Given the description of an element on the screen output the (x, y) to click on. 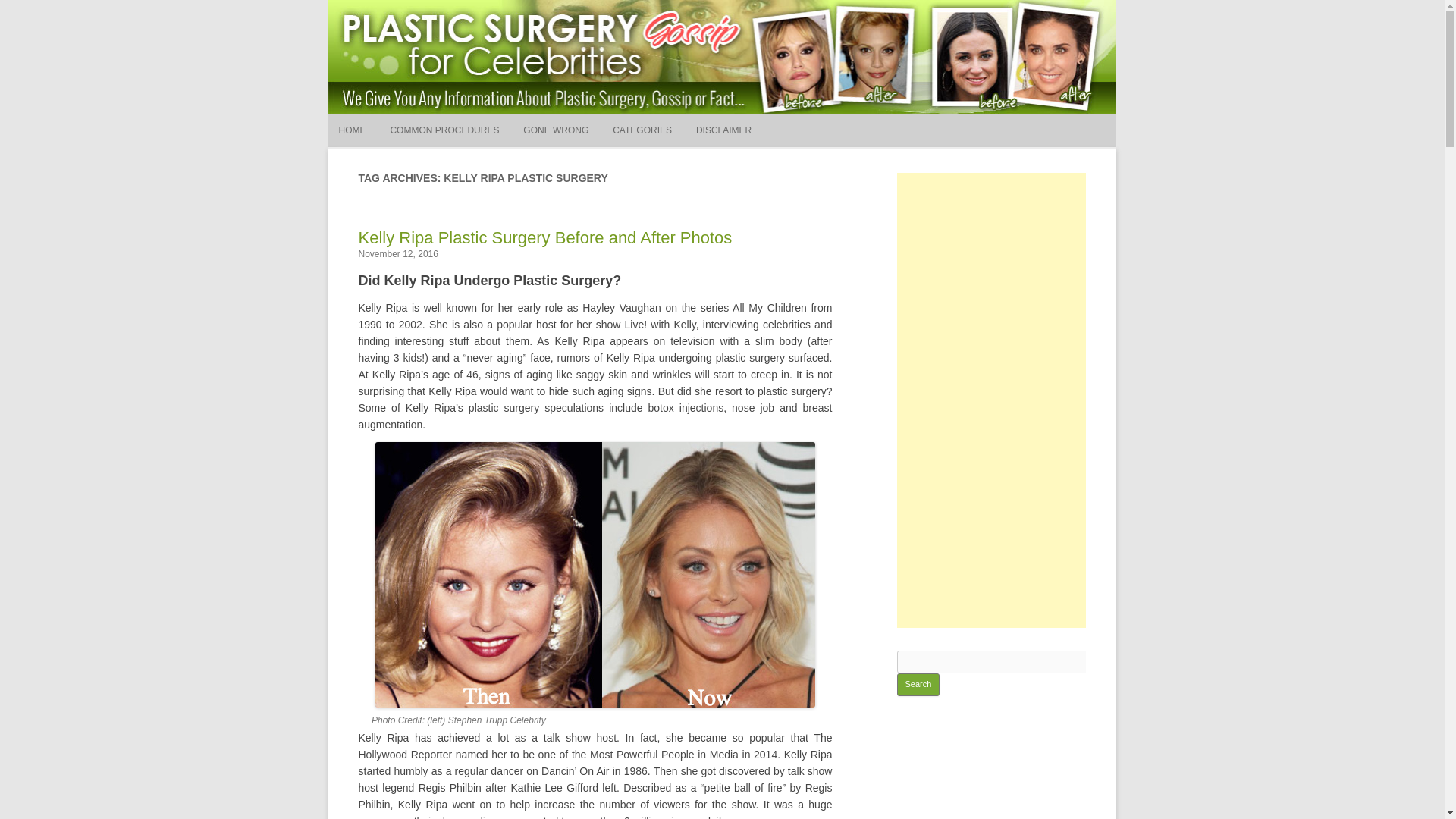
Skip to content (757, 118)
Search (777, 172)
Search (917, 684)
COMMON PROCEDURES (444, 130)
DISCLAIMER (723, 130)
1:16 am (398, 253)
Search (917, 684)
GONE WRONG (555, 130)
Skip to content (757, 118)
Search (777, 172)
November 12, 2016 (398, 253)
Kelly Ripa Plastic Surgery Before and After Photos (545, 237)
